Given the description of an element on the screen output the (x, y) to click on. 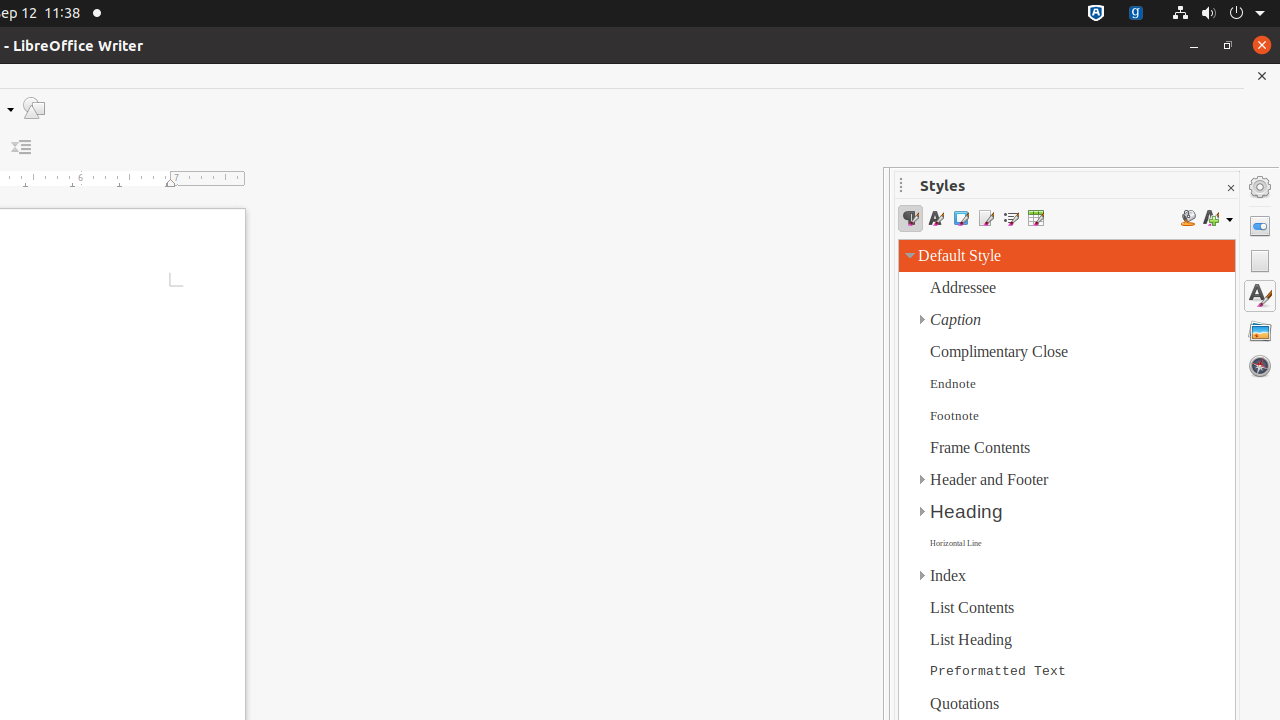
List Styles Element type: push-button (1010, 218)
:1.72/StatusNotifierItem Element type: menu (1096, 13)
Gallery Element type: radio-button (1260, 331)
Table Styles Element type: push-button (1035, 218)
